Given the description of an element on the screen output the (x, y) to click on. 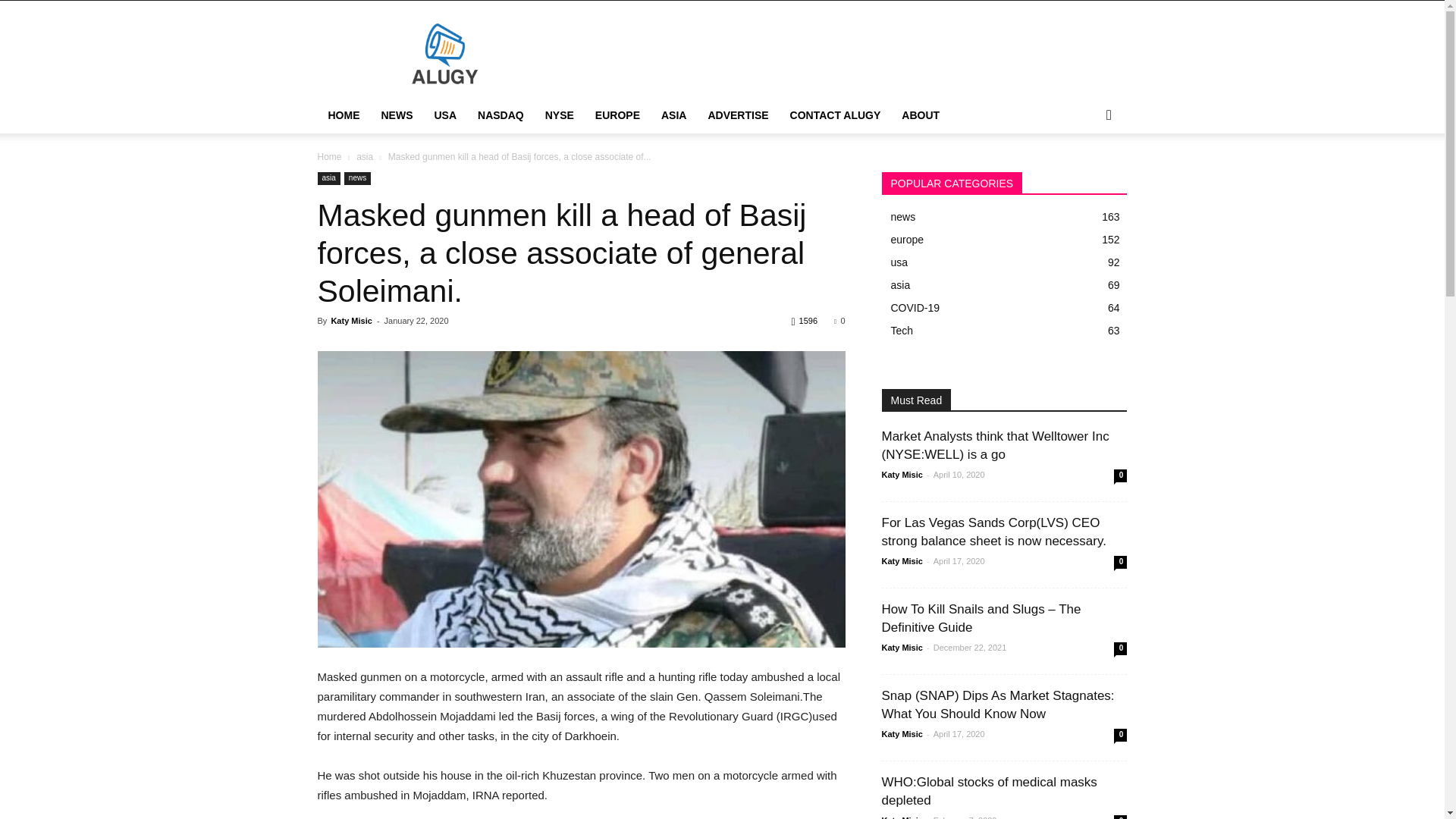
EUROPE (617, 115)
Home (328, 156)
ADVERTISE (737, 115)
asia (364, 156)
ABOUT (920, 115)
NASDAQ (500, 115)
news (357, 178)
ASIA (673, 115)
NEWS (396, 115)
Search (1085, 175)
CONTACT ALUGY (834, 115)
USA (445, 115)
asia (328, 178)
View all posts in asia (364, 156)
